Given the description of an element on the screen output the (x, y) to click on. 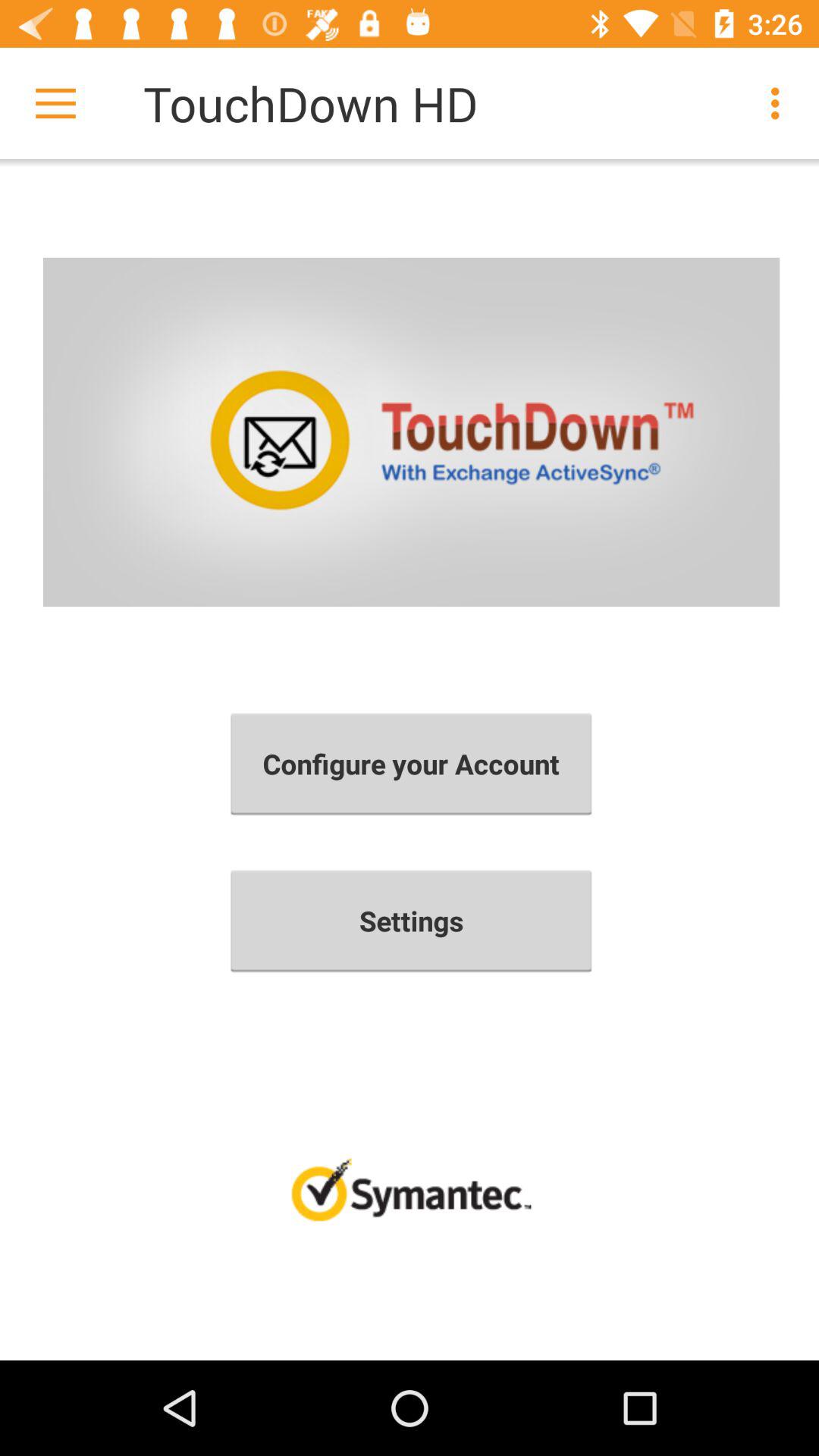
choose item to the right of touchdown hd (779, 103)
